Given the description of an element on the screen output the (x, y) to click on. 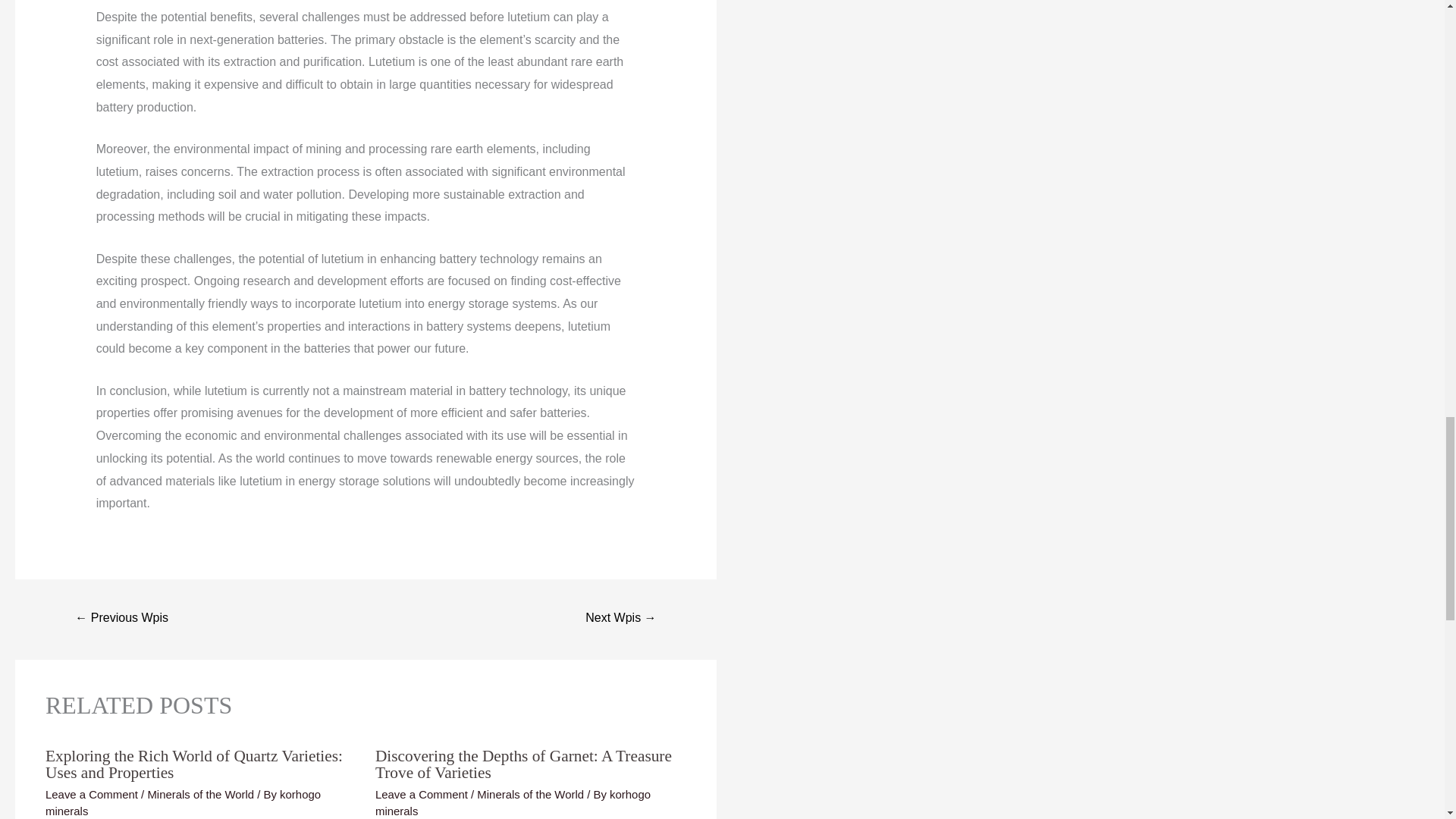
Minerals of the World (530, 793)
Minerals of the World (200, 793)
Leave a Comment (91, 793)
korhogo minerals (182, 802)
Leave a Comment (421, 793)
View all posts by korhogo minerals (182, 802)
The Future of Telecommunications Powered by Lutetium (121, 619)
